Given the description of an element on the screen output the (x, y) to click on. 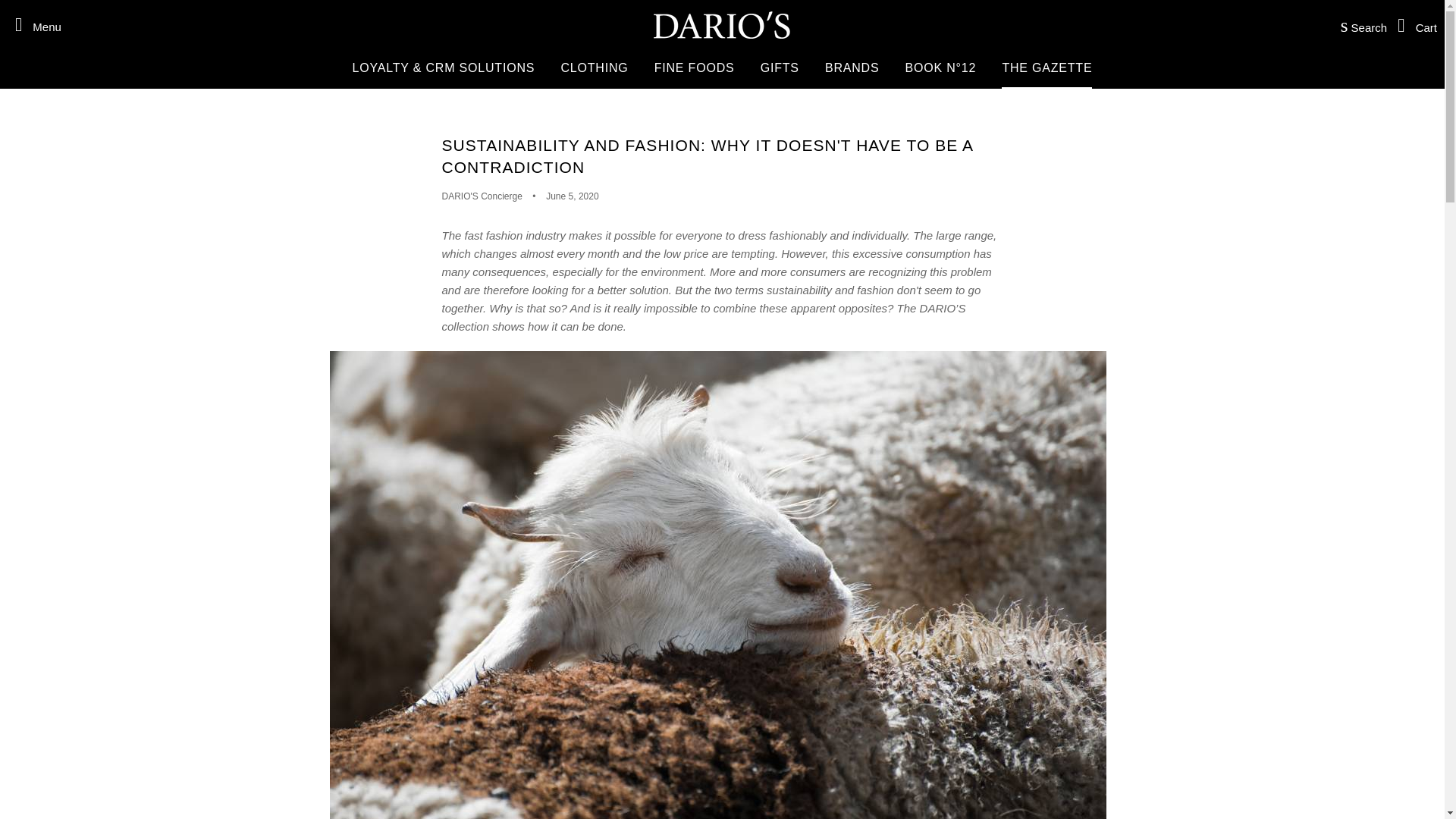
BRANDS (851, 67)
Search (1360, 23)
Cart (1413, 23)
Menu (34, 24)
FINE FOODS (694, 67)
CLOTHING (593, 67)
THE GAZETTE (1046, 67)
GIFTS (779, 67)
